Given the description of an element on the screen output the (x, y) to click on. 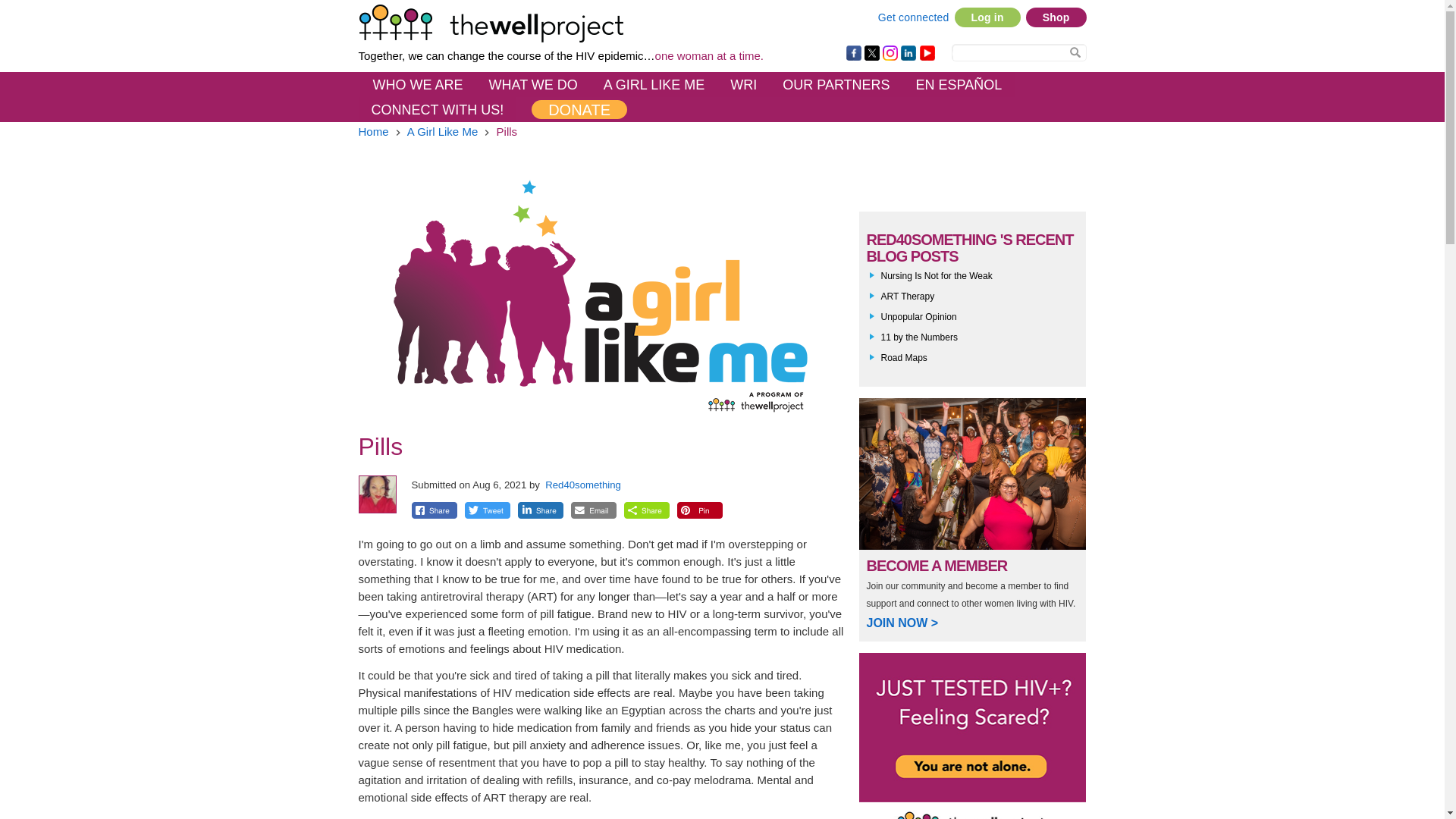
Follow us on Instagram (890, 52)
YouTube (926, 52)
WHAT WE DO (533, 84)
Facebook (853, 52)
View user profile. (582, 484)
Follow us on Twitter (871, 52)
Shop (1056, 17)
Home (560, 23)
LinkedIn (908, 52)
Instagram (890, 52)
Twitter (871, 52)
Follow us on LinkedIn (908, 52)
SEARCH CONTENT (1075, 51)
WHO WE ARE (417, 84)
Follow us on YouTube (926, 52)
